Given the description of an element on the screen output the (x, y) to click on. 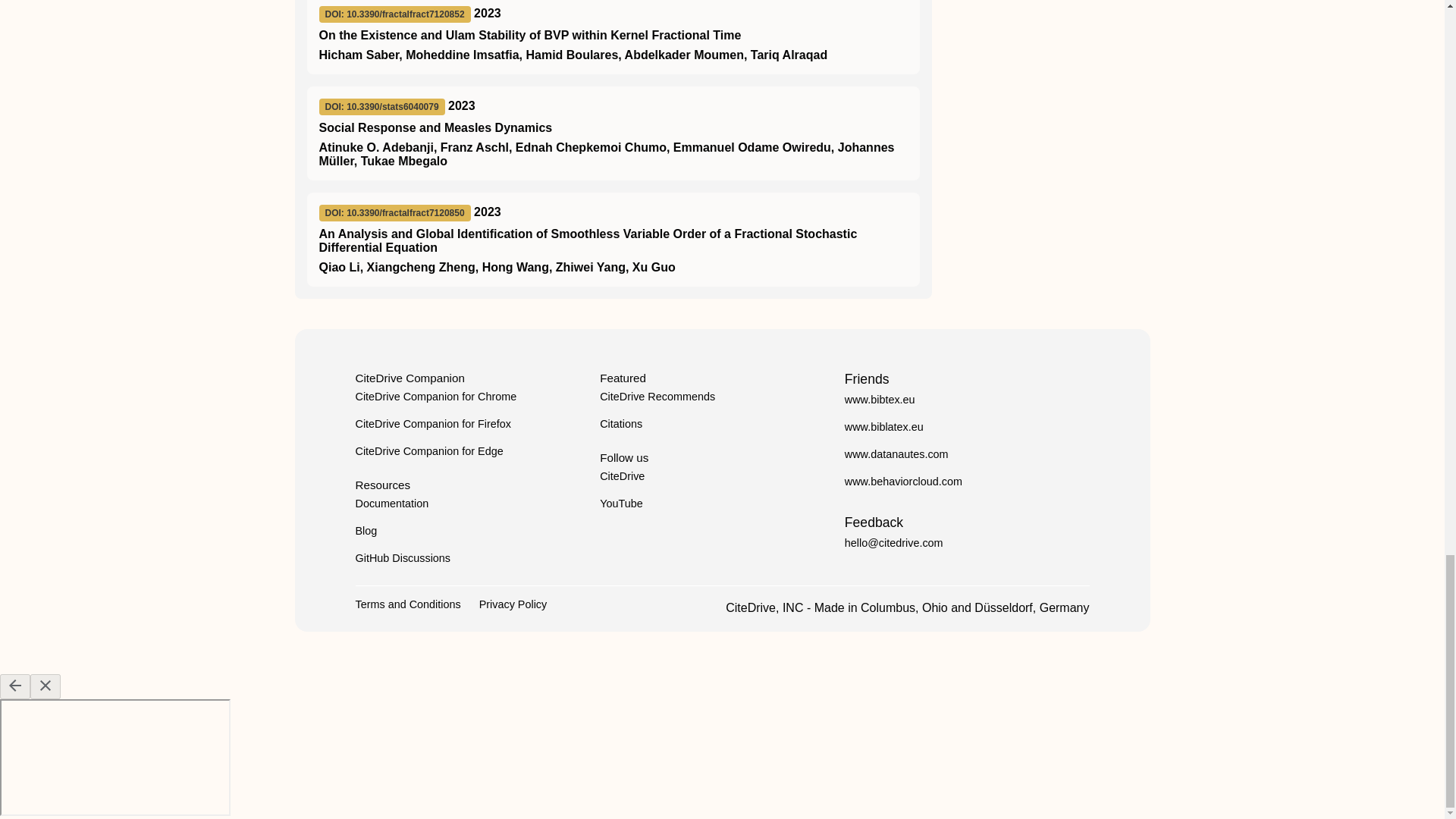
CiteDrive (622, 476)
CiteDrive Companion for Edge (428, 451)
www.bibtex.eu (879, 399)
YouTube (621, 503)
www.biblatex.eu (883, 426)
Citations (620, 423)
GitHub Discussions (402, 558)
Blog (366, 530)
CiteDrive Companion for Chrome (435, 396)
CiteDrive Recommends (656, 396)
Documentation (391, 503)
CiteDrive Companion for Firefox (433, 423)
